Given the description of an element on the screen output the (x, y) to click on. 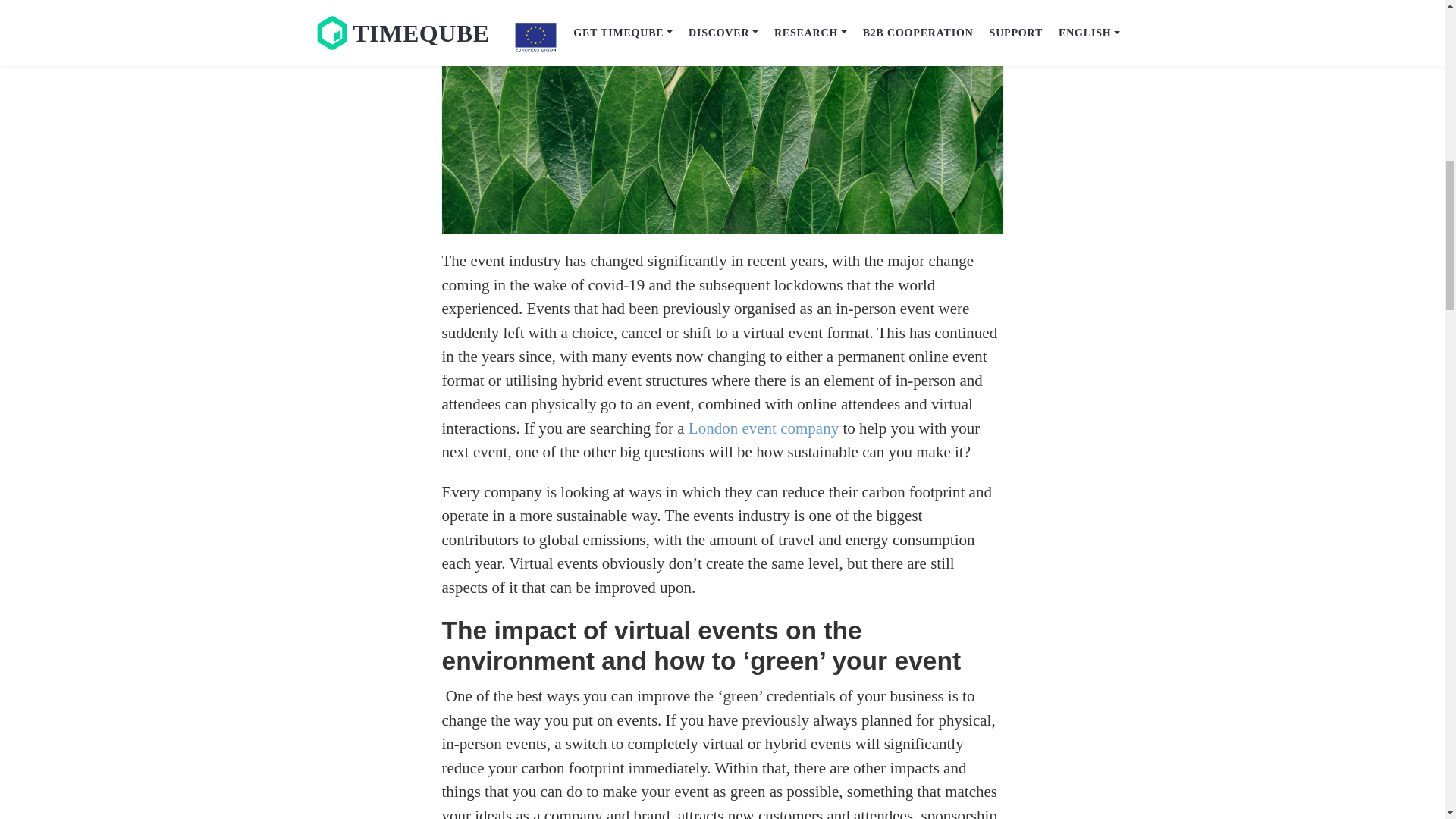
London event company (763, 428)
